Given the description of an element on the screen output the (x, y) to click on. 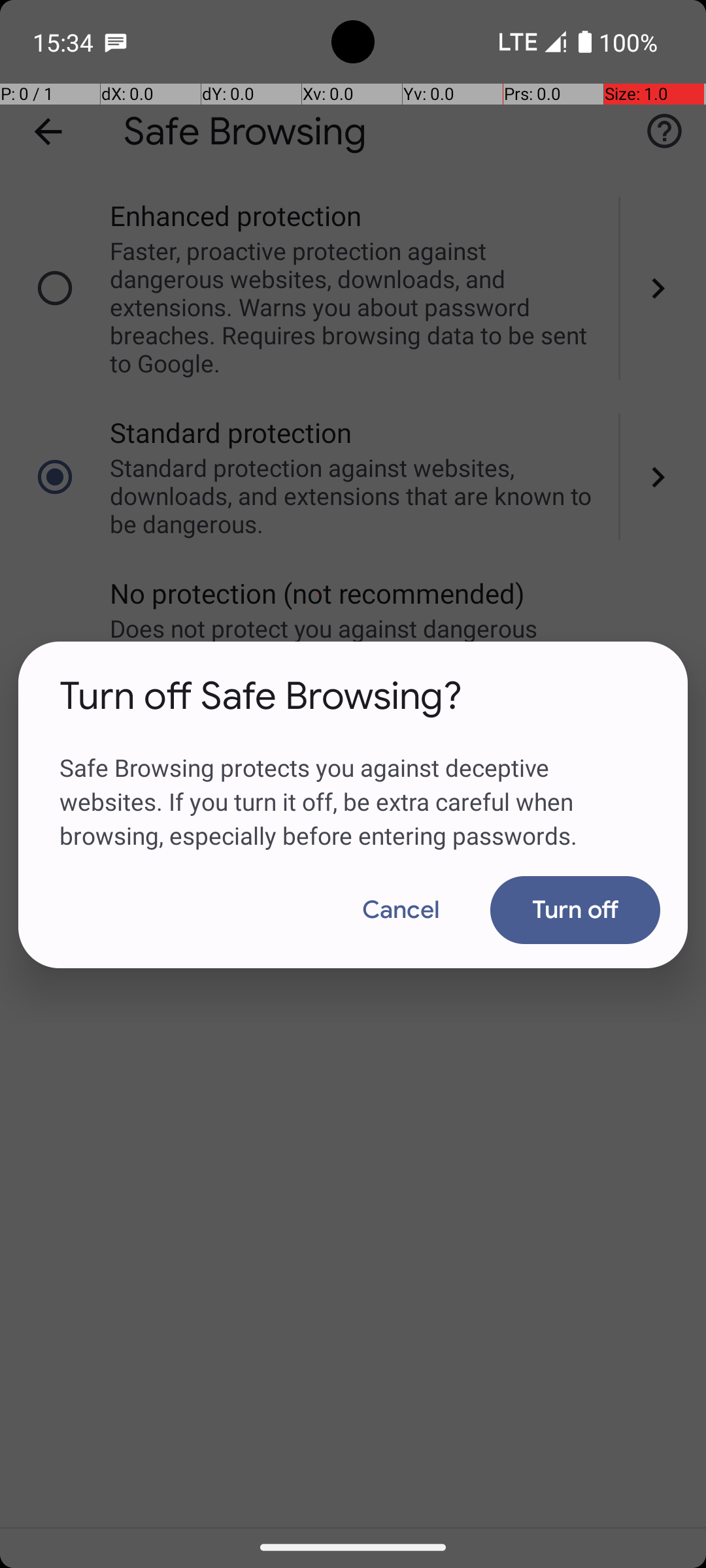
Turn off Safe Browsing? Element type: android.widget.TextView (260, 695)
Safe Browsing protects you against deceptive websites. If you turn it off, be extra careful when browsing, especially before entering passwords. Element type: android.widget.TextView (352, 785)
Turn off Element type: android.widget.Button (575, 909)
